Given the description of an element on the screen output the (x, y) to click on. 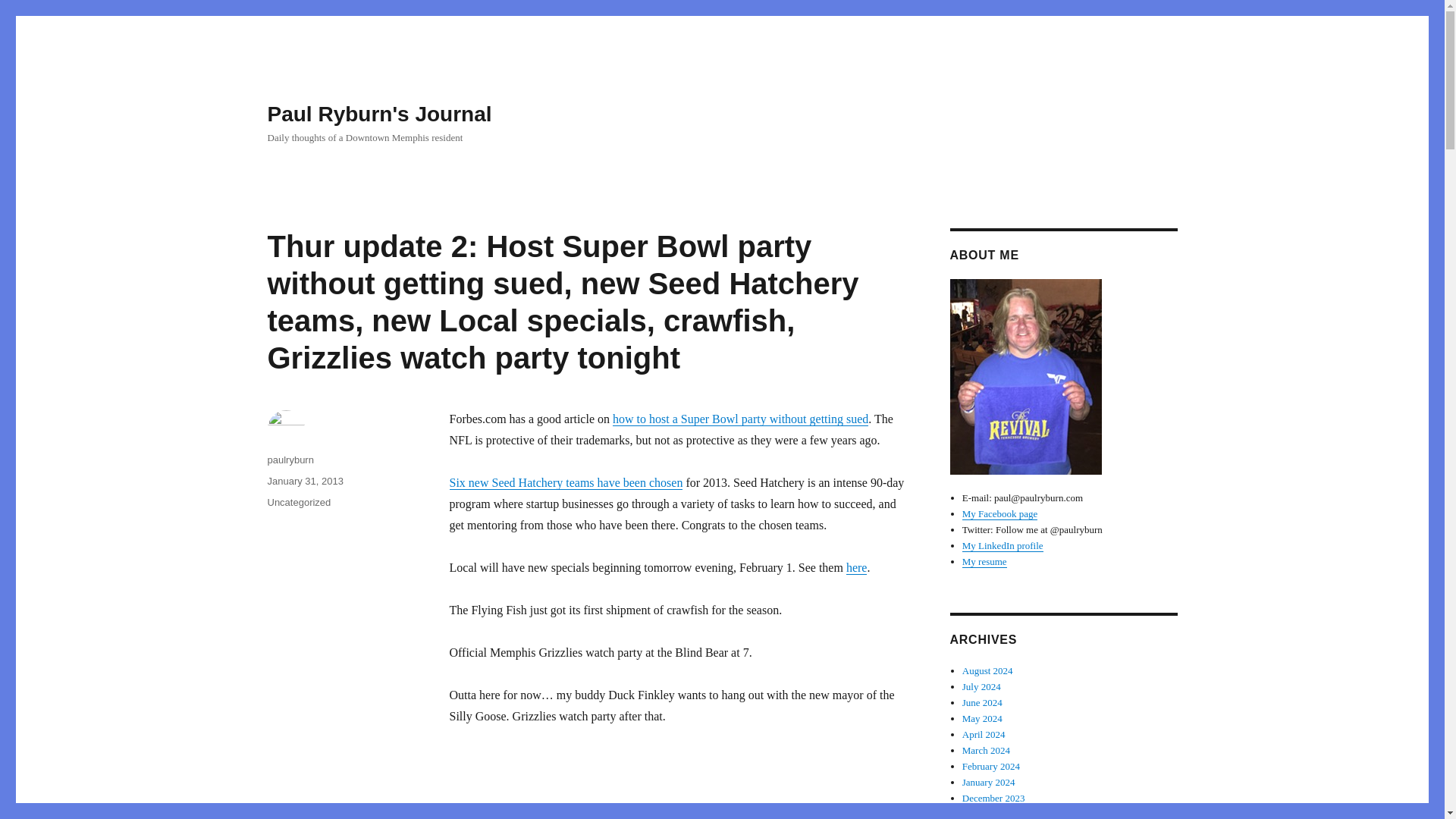
June 2024 (982, 702)
May 2024 (982, 717)
My resume (984, 561)
paulryburn (289, 460)
here (856, 567)
August 2024 (987, 670)
My Facebook page (1000, 513)
January 31, 2013 (304, 480)
Paul Ryburn's Journal (379, 114)
My LinkedIn profile (1002, 545)
how to host a Super Bowl party without getting sued (739, 418)
July 2024 (981, 686)
Uncategorized (298, 501)
Six new Seed Hatchery teams have been chosen (565, 481)
